Given the description of an element on the screen output the (x, y) to click on. 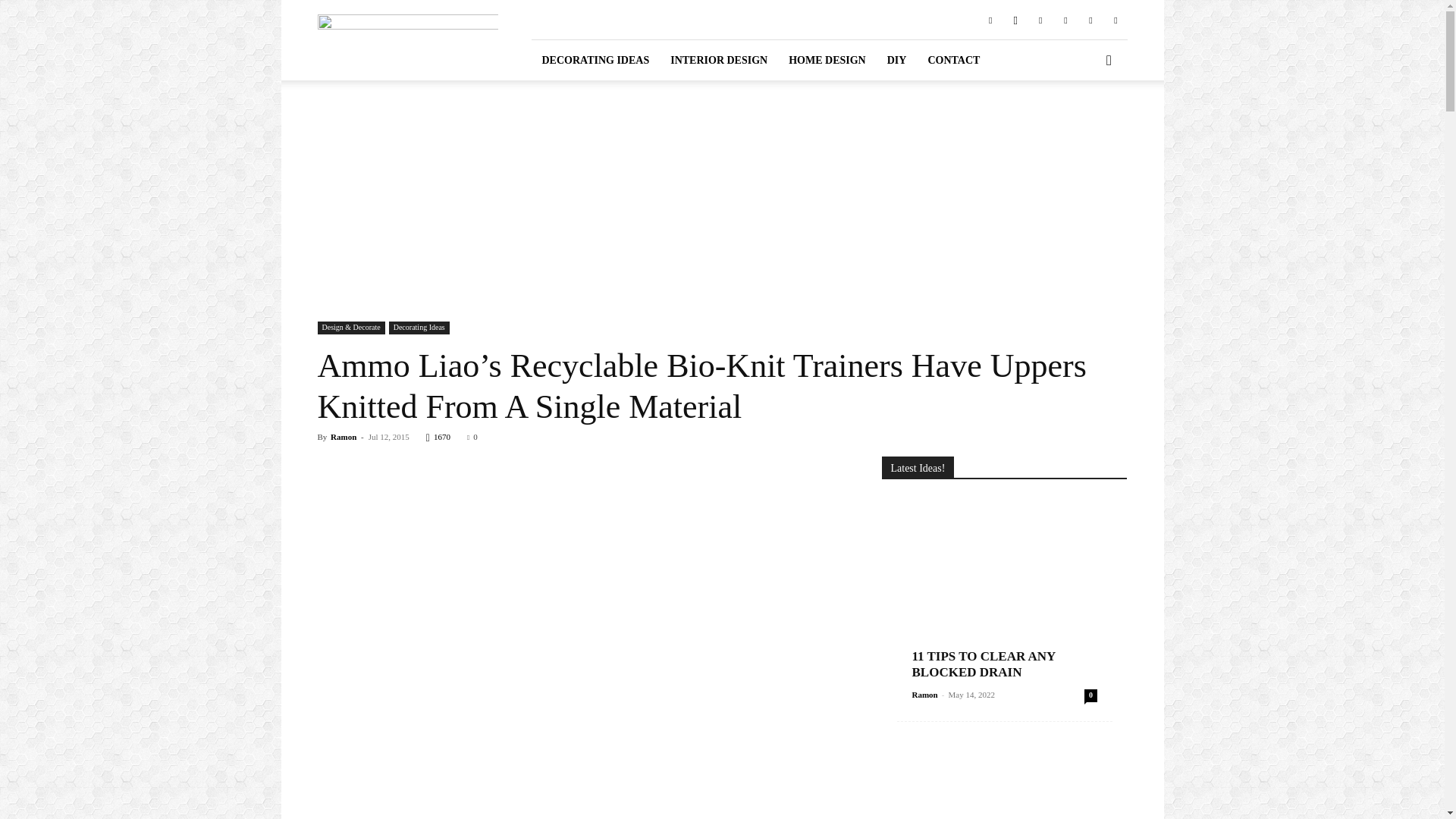
WordPress (1114, 19)
Pinterest (1040, 19)
Twitter (1090, 19)
HOME DESIGN (826, 60)
0 (472, 436)
Search (1085, 122)
Facebook (989, 19)
DECORATING IDEAS (595, 60)
DIY (896, 60)
RSS (1065, 19)
Ramon (343, 436)
INTERIOR DESIGN (718, 60)
Instagram (1015, 19)
Decorating Ideas (418, 327)
